Given the description of an element on the screen output the (x, y) to click on. 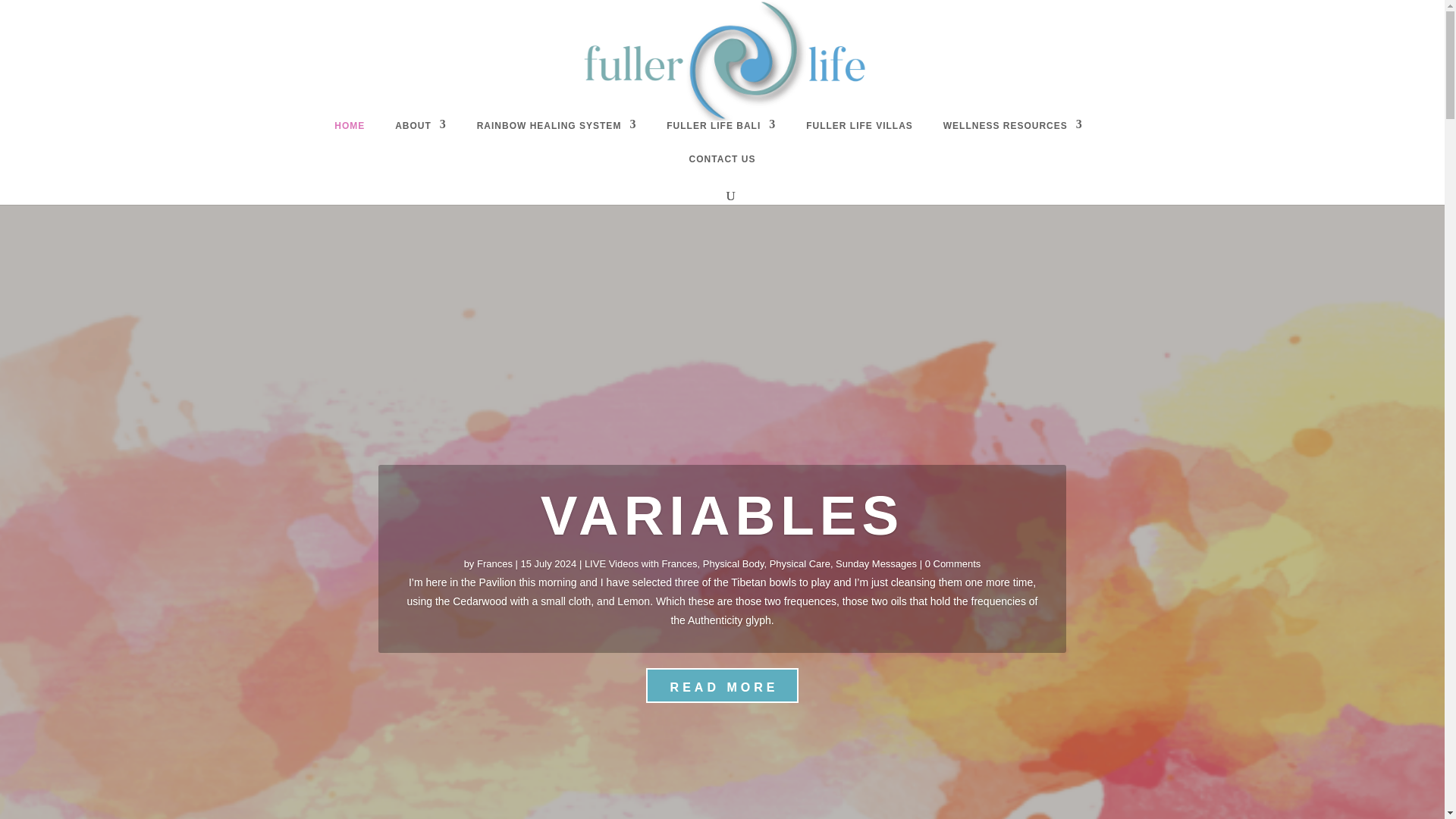
ABOUT (420, 129)
WELLNESS RESOURCES (1013, 129)
CONTACT US (721, 162)
RAINBOW HEALING SYSTEM (557, 129)
FULLER LIFE VILLAS (859, 129)
Posts by Frances (494, 563)
FULLER LIFE BALI (721, 129)
HOME (349, 129)
